Given the description of an element on the screen output the (x, y) to click on. 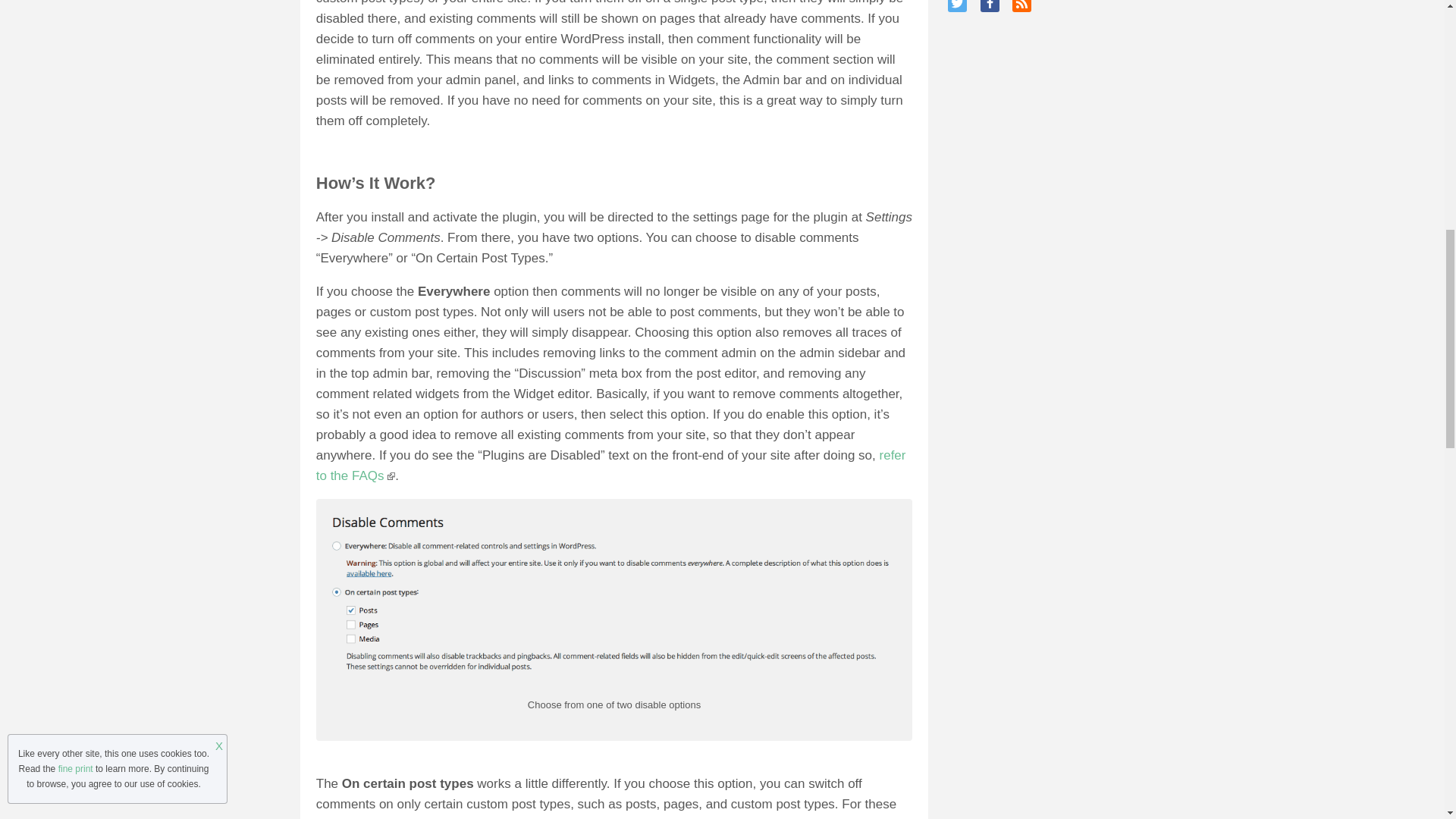
refer to the FAQs (610, 465)
